Given the description of an element on the screen output the (x, y) to click on. 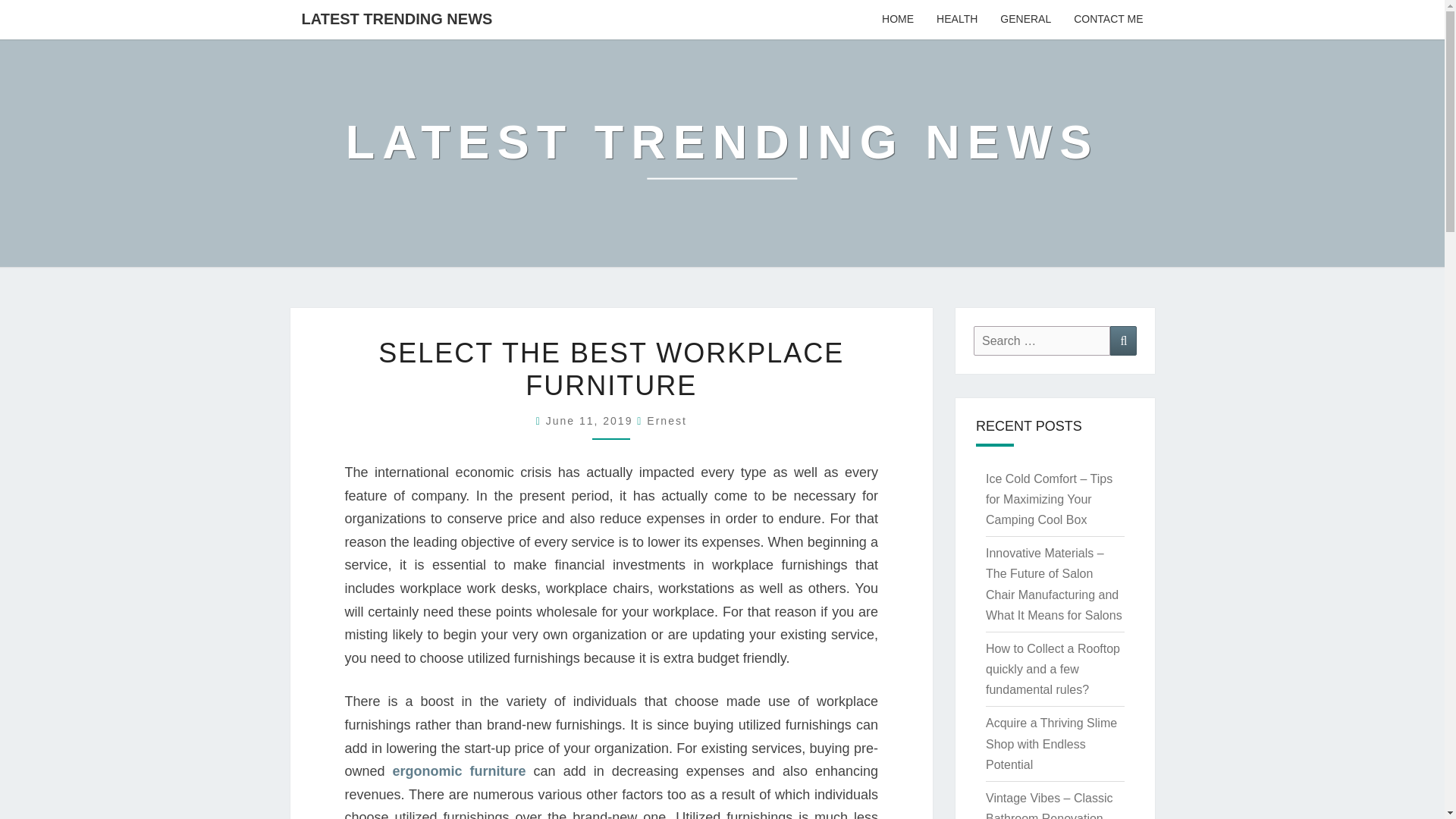
Search for: (1041, 340)
HEALTH (956, 19)
June 11, 2019 (591, 420)
11:11 am (591, 420)
GENERAL (1025, 19)
LATEST TRENDING NEWS (396, 18)
CONTACT ME (1108, 19)
Acquire a Thriving Slime Shop with Endless Potential (1050, 743)
LATEST TRENDING NEWS (722, 152)
Latest Trending News (722, 152)
HOME (897, 19)
Ernest (665, 420)
View all posts by Ernest (665, 420)
Search (1123, 340)
ergonomic furniture (459, 770)
